Given the description of an element on the screen output the (x, y) to click on. 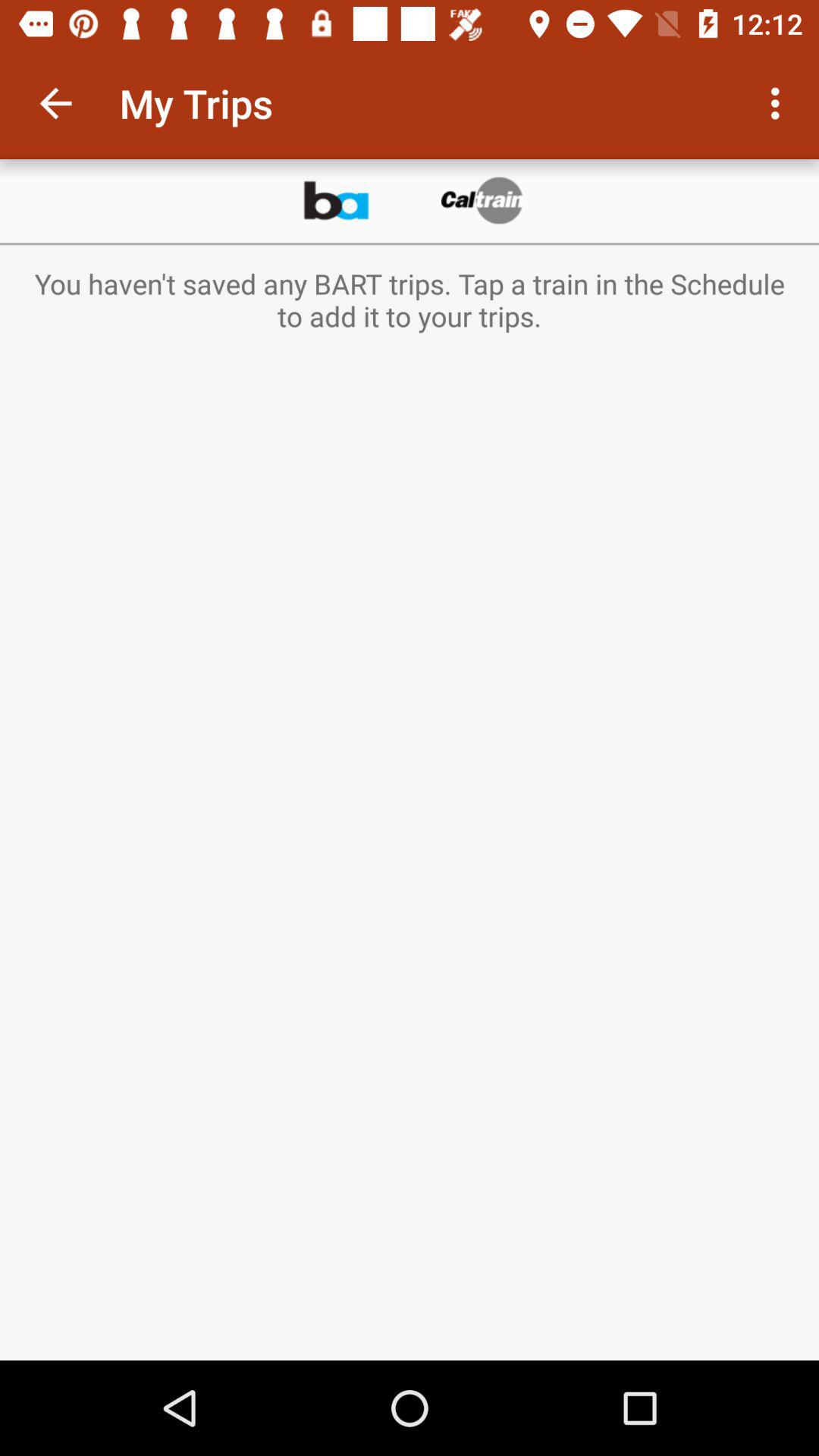
launch item at the top right corner (779, 103)
